Given the description of an element on the screen output the (x, y) to click on. 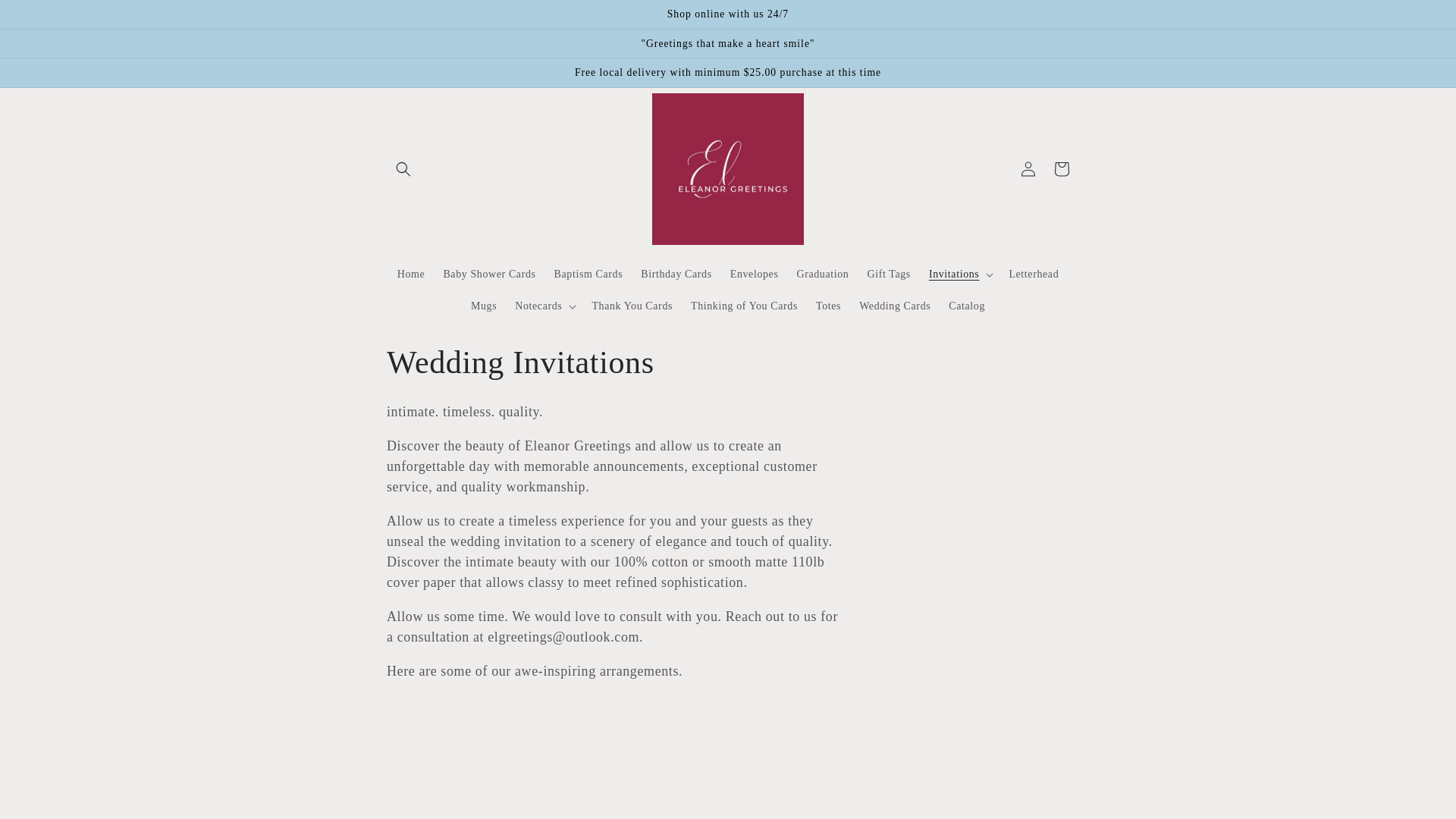
Thank You Cards (631, 306)
Baptism Cards (587, 274)
Gift Tags (887, 274)
Home (410, 274)
Graduation (822, 274)
Skip to content (45, 17)
Thinking of You Cards (743, 306)
Mugs (483, 306)
Envelopes (753, 274)
Baby Shower Cards (488, 274)
Letterhead (1032, 274)
Birthday Cards (675, 274)
